Given the description of an element on the screen output the (x, y) to click on. 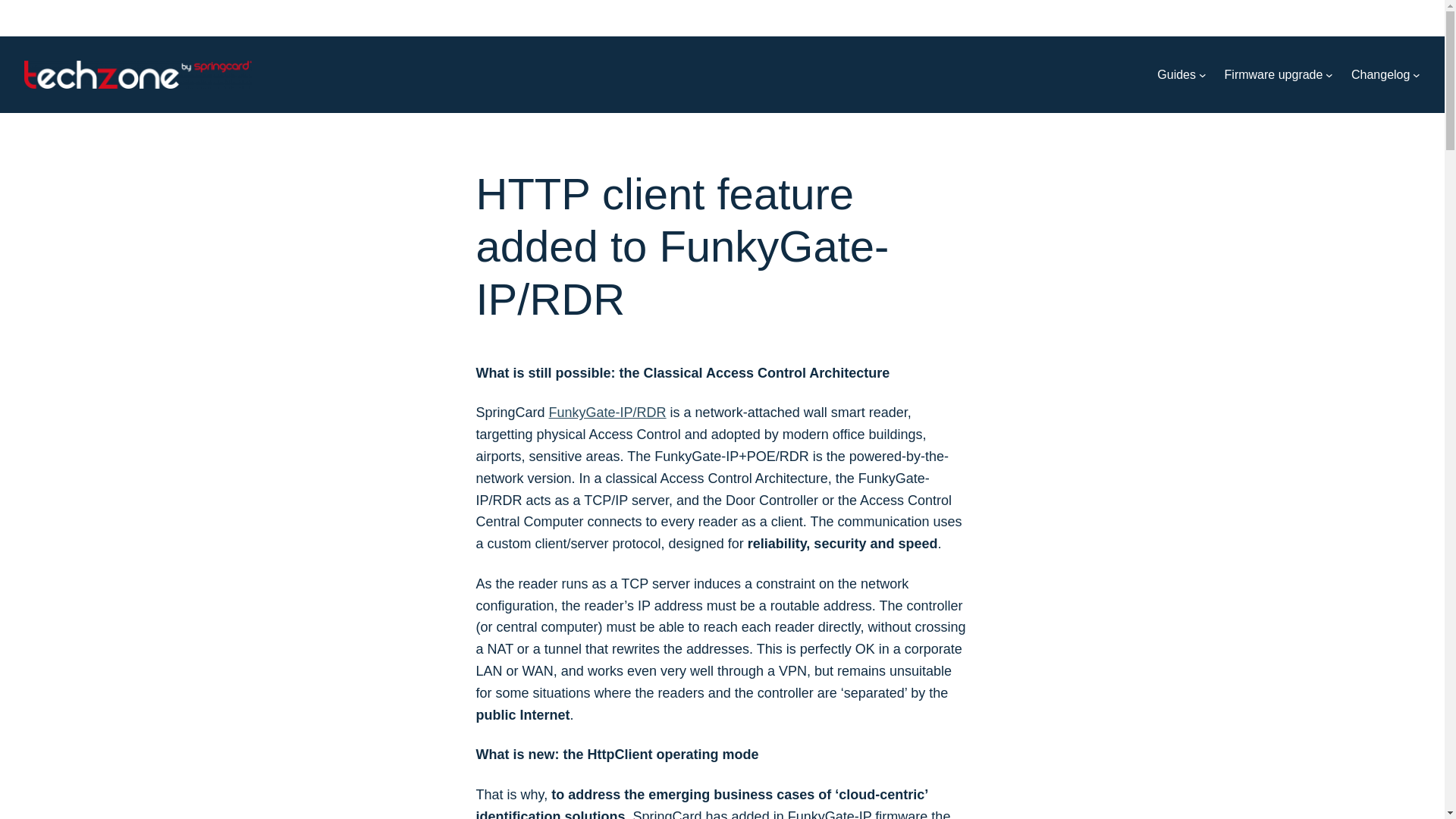
Guides (1176, 75)
Firmware upgrade (1273, 75)
Changelog (1380, 75)
